Given the description of an element on the screen output the (x, y) to click on. 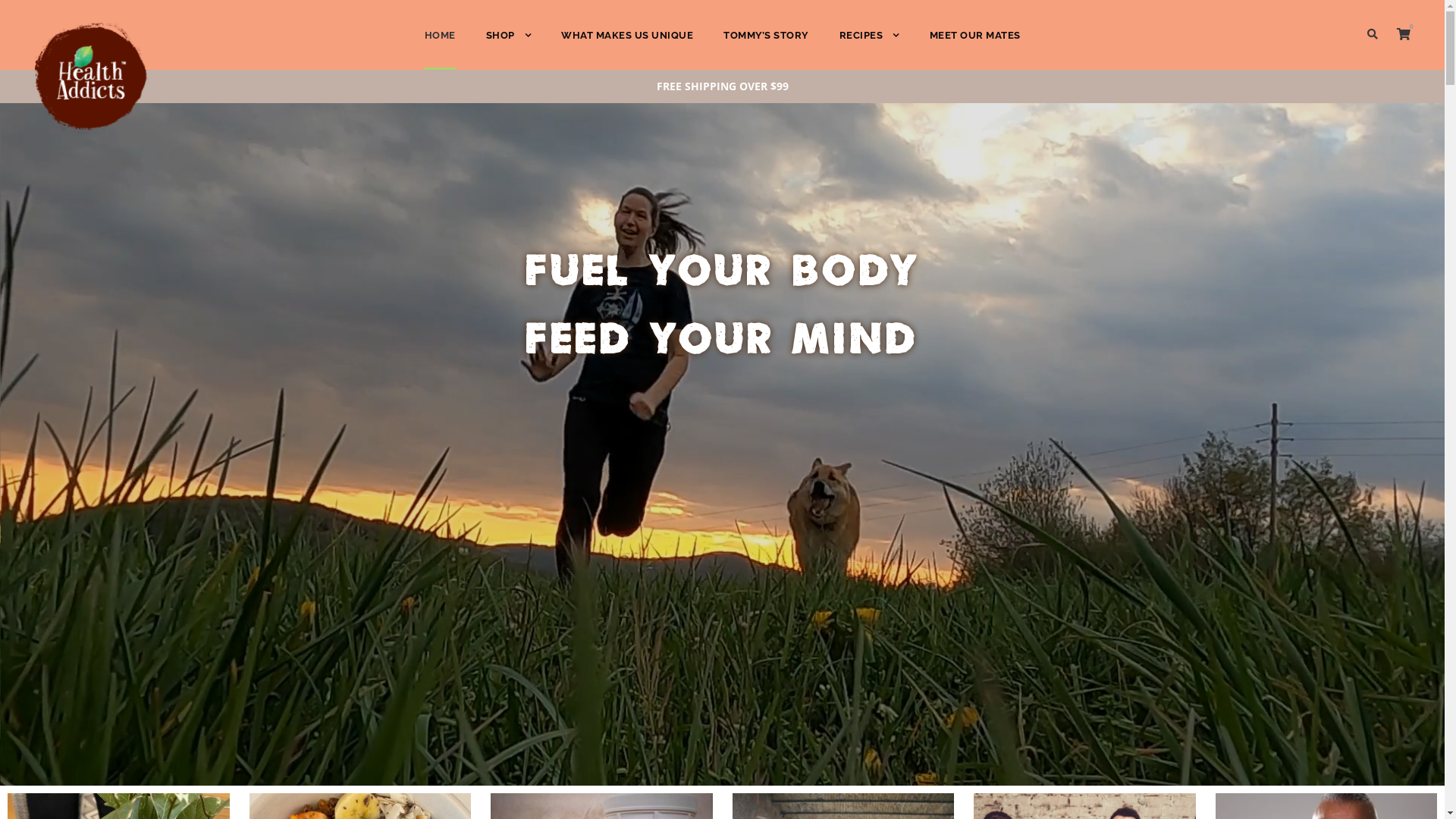
Meet our Mates Element type: text (364, 673)
Instagram Element type: hover (969, 672)
TWEAK GEEK IT Element type: text (1079, 807)
Twitter Element type: hover (933, 672)
MEET OUR MATES Element type: text (974, 48)
SHOP Element type: text (507, 48)
Terms & Conditions Element type: text (586, 647)
logo Element type: hover (90, 77)
Privacy Policy Element type: text (570, 673)
RECIPES Element type: text (868, 48)
SHOP Element type: text (550, 566)
Facebook Element type: hover (895, 672)
Contact Us Element type: text (353, 727)
Cart Element type: text (546, 594)
My Account Element type: text (564, 620)
HOME Element type: text (439, 48)
WHAT MAKES US UNIQUE Element type: text (627, 48)
SmoothieLicious Recipes Element type: text (389, 647)
HOME Element type: text (340, 566)
What Makes Us Unique Element type: text (382, 620)
